Given the description of an element on the screen output the (x, y) to click on. 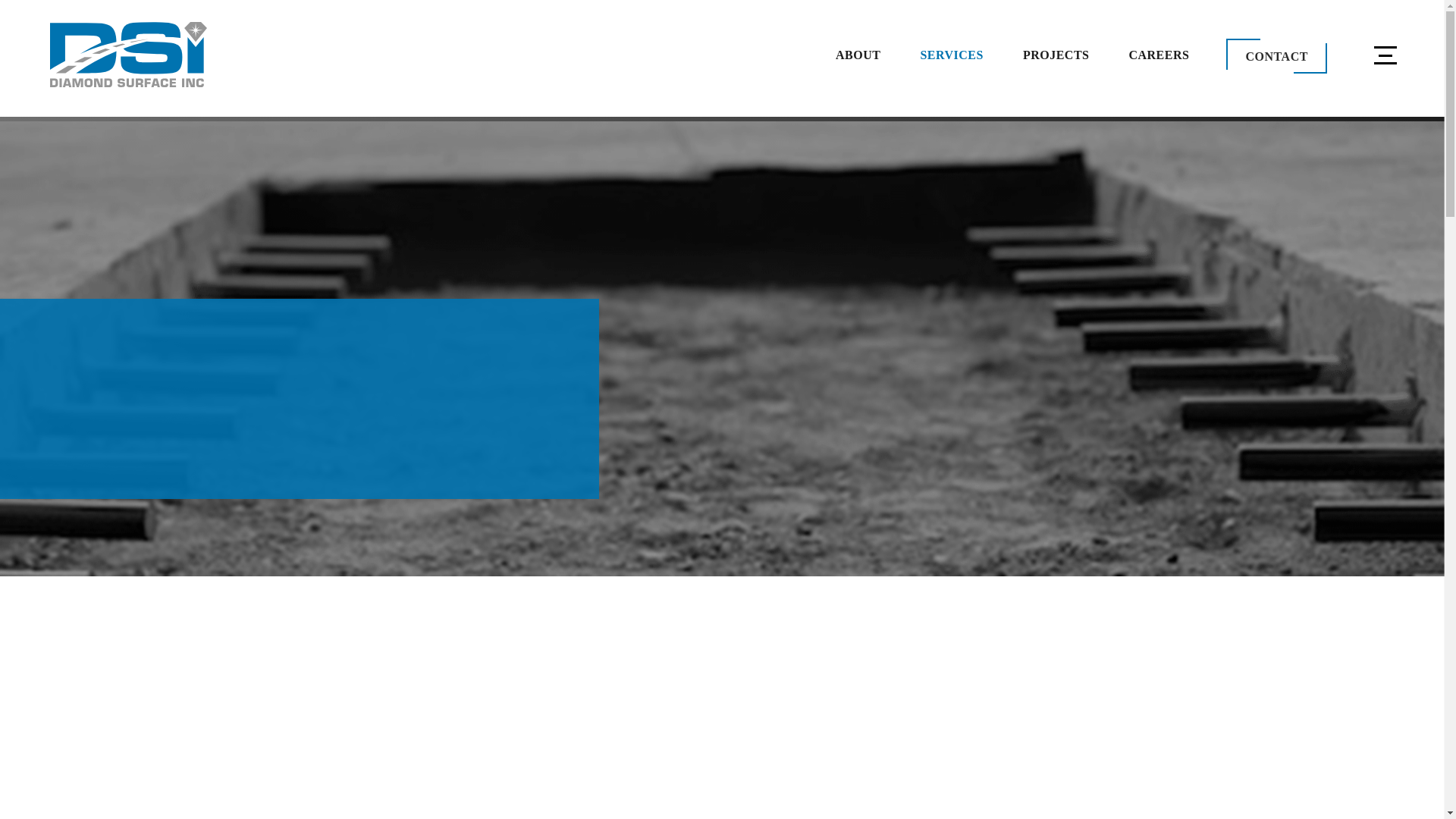
SERVICES (951, 54)
ABOUT (857, 54)
Diamond Surface Inc (127, 54)
PROJECTS (1056, 54)
Contact (1275, 55)
CAREERS (1158, 54)
CONTACT (1275, 55)
